Given the description of an element on the screen output the (x, y) to click on. 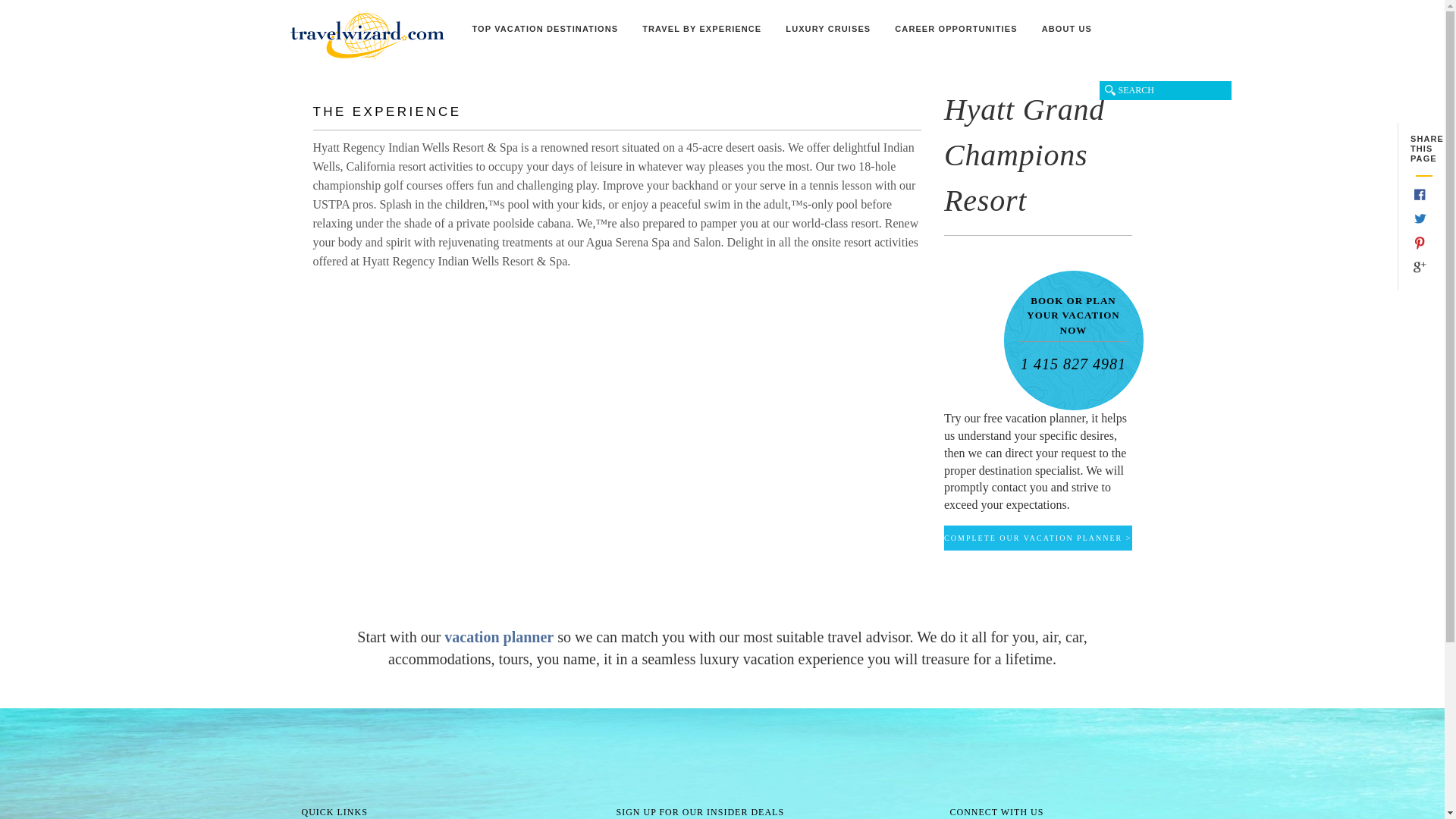
TOP VACATION DESTINATIONS (545, 36)
BOOK OR PLAN YOUR VACATION NOW (1073, 319)
Share on Twitter (1419, 221)
CAREER OPPORTUNITIES (955, 36)
TRAVEL BY EXPERIENCE (701, 36)
LUXURY CRUISES (827, 36)
Travel Wizard (366, 34)
ABOUT US (1066, 36)
vacation planner (500, 636)
